Given the description of an element on the screen output the (x, y) to click on. 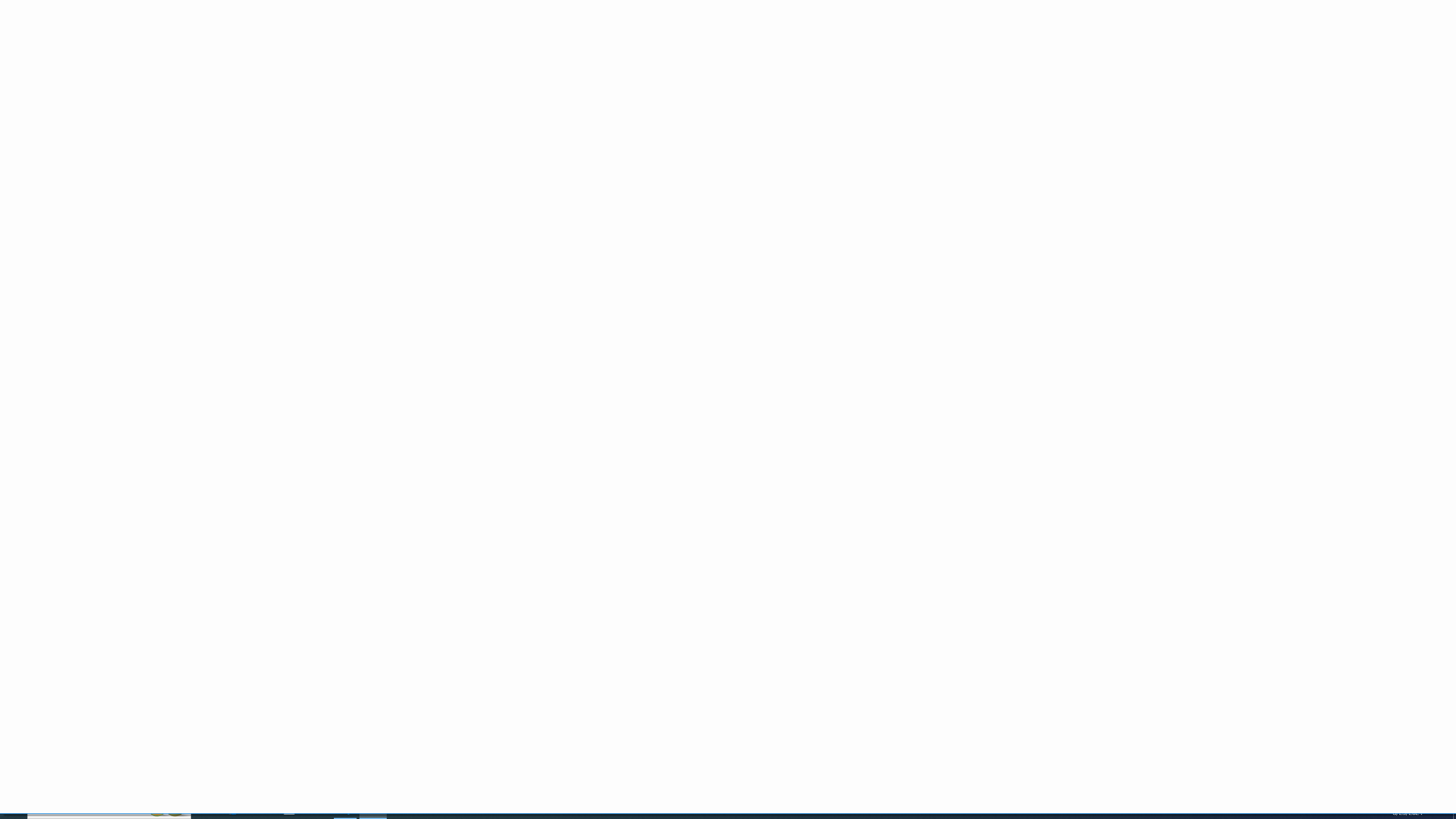
AutomationID: CellStylesGallery (736, 57)
Underline (131, 67)
Class: MsoCommandBar (728, 45)
Office Clipboard... (88, 85)
Number Format (455, 49)
Explanatory Text (671, 65)
Comma Style (457, 67)
Merge & Center (365, 67)
Bad (671, 49)
